Given the description of an element on the screen output the (x, y) to click on. 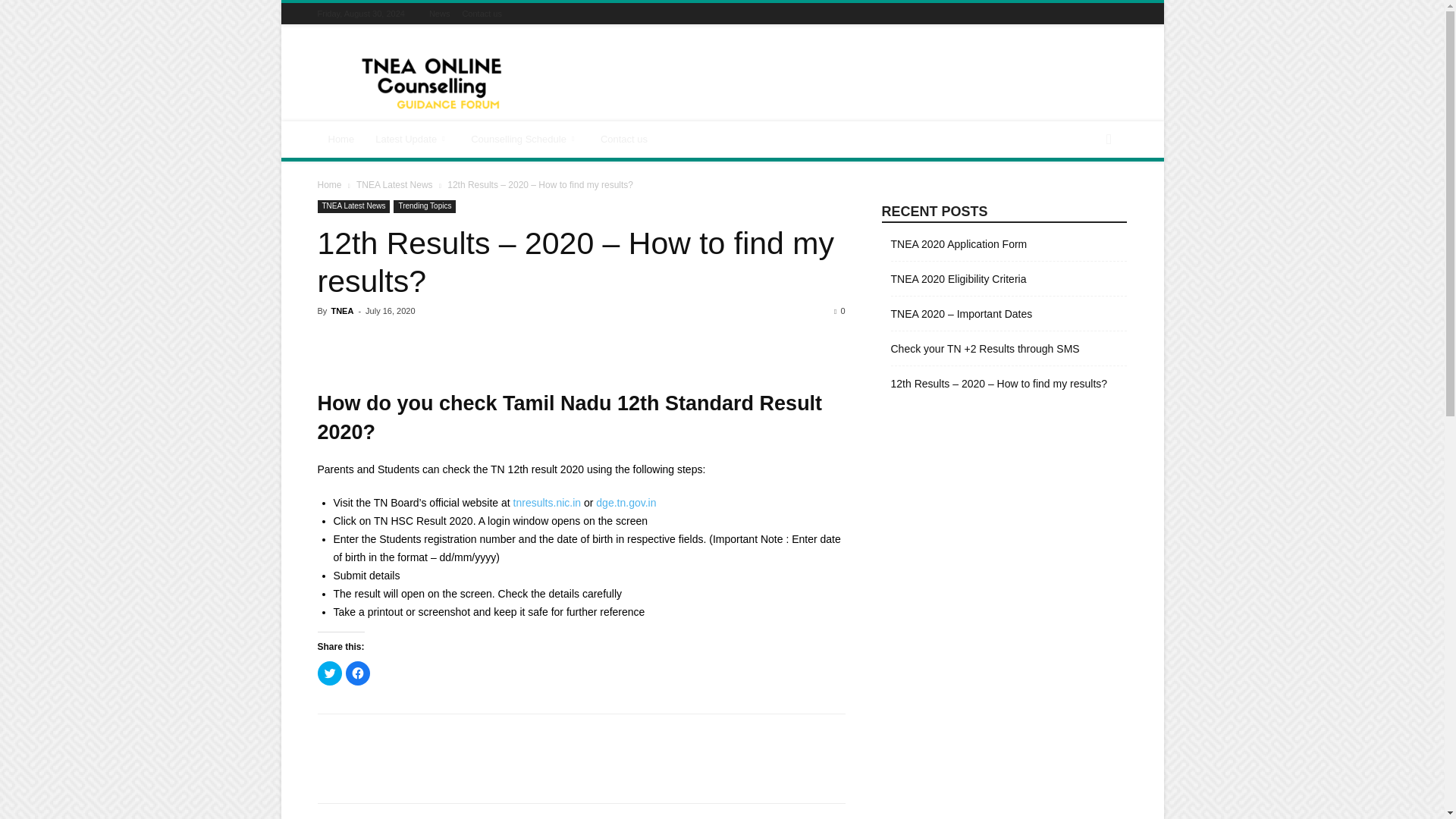
Counselling Schedule (524, 139)
Click to share on Facebook (357, 672)
View all posts in TNEA Latest News (394, 184)
Home (341, 139)
Click to share on Twitter (328, 672)
Contact us (623, 139)
Latest Update (412, 139)
Search (1083, 200)
Home (328, 184)
Contact us (481, 13)
